Given the description of an element on the screen output the (x, y) to click on. 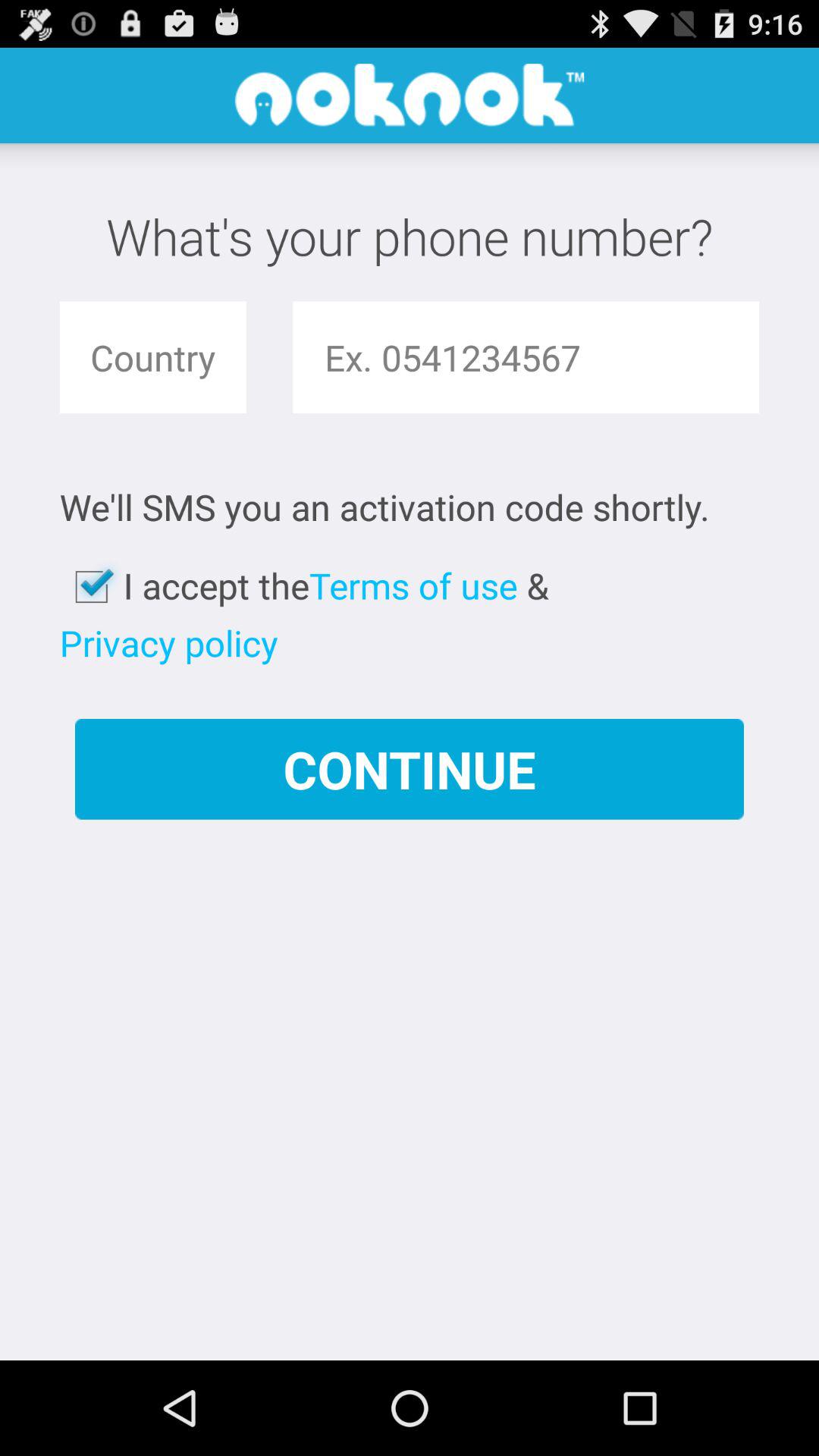
launch the privacy policy app (168, 642)
